Given the description of an element on the screen output the (x, y) to click on. 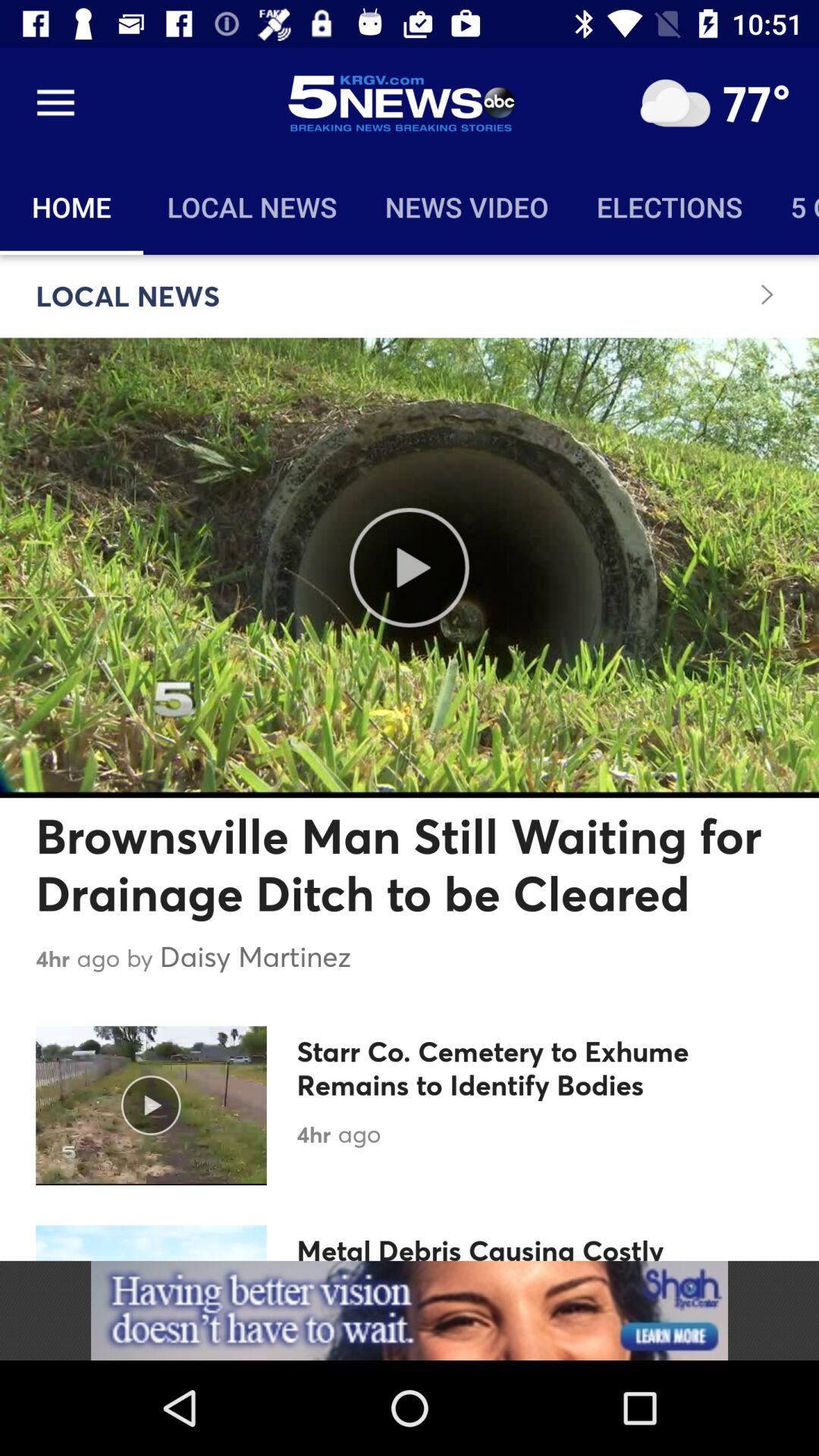
option (674, 103)
